Given the description of an element on the screen output the (x, y) to click on. 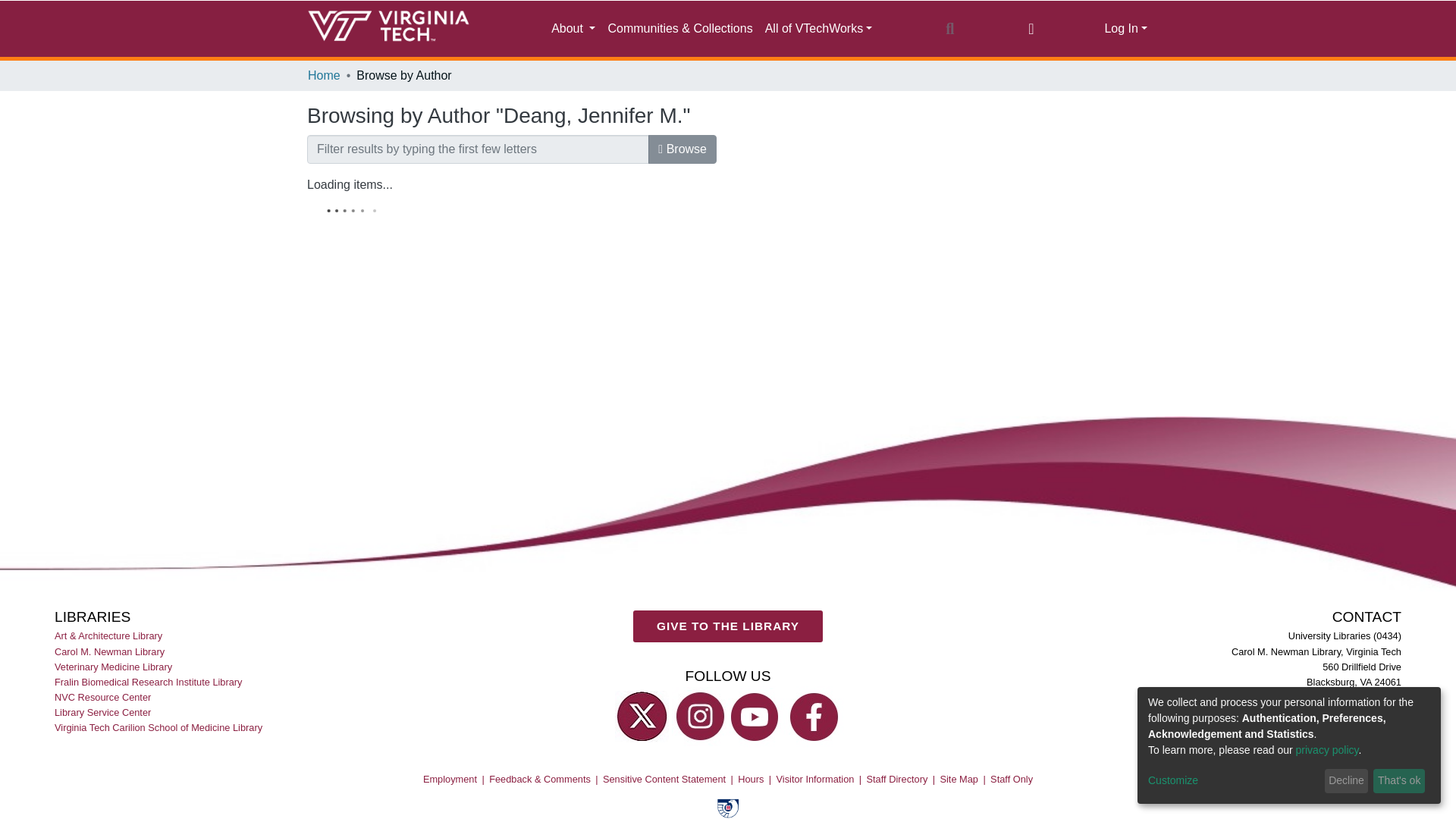
Carol M. Newman Library (111, 651)
Veterinary Medicine Library (114, 666)
Virginia Tech Carilion School of Medicine Library (159, 726)
Facebook (813, 716)
GIVE TO THE LIBRARY (728, 637)
Twitter (642, 716)
YouTube (757, 716)
Library Service Center (103, 711)
Fralin Biomedical Research Institute Library (149, 681)
All of VTechWorks (818, 28)
NVC Resource Center (103, 696)
Browse (681, 149)
Home (323, 75)
Language switch (1031, 28)
About (572, 28)
